Given the description of an element on the screen output the (x, y) to click on. 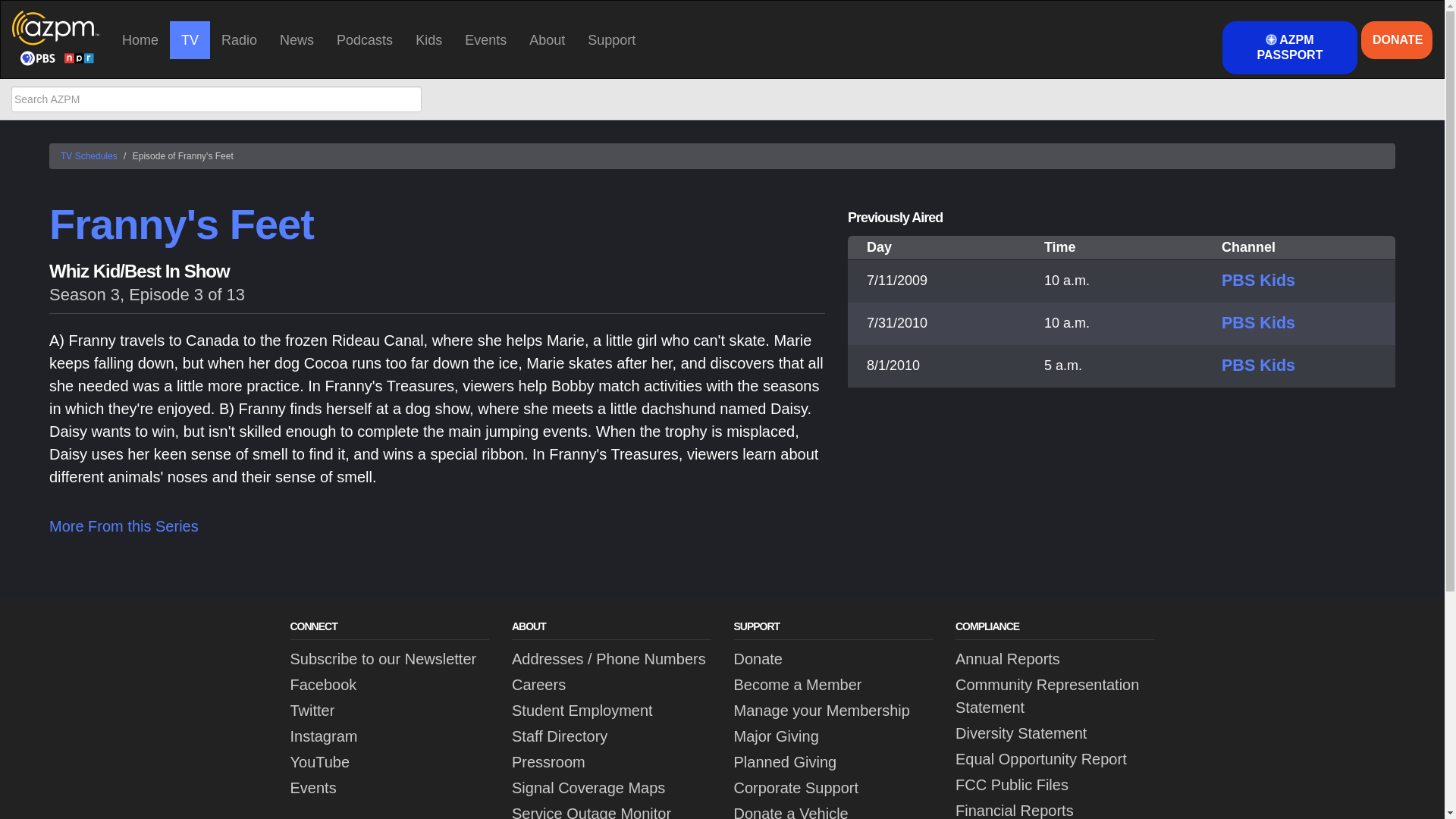
Kids (428, 39)
News (295, 39)
About (547, 39)
Events (485, 39)
Home (140, 39)
Podcasts (364, 39)
TV (189, 39)
Radio (238, 39)
